Given the description of an element on the screen output the (x, y) to click on. 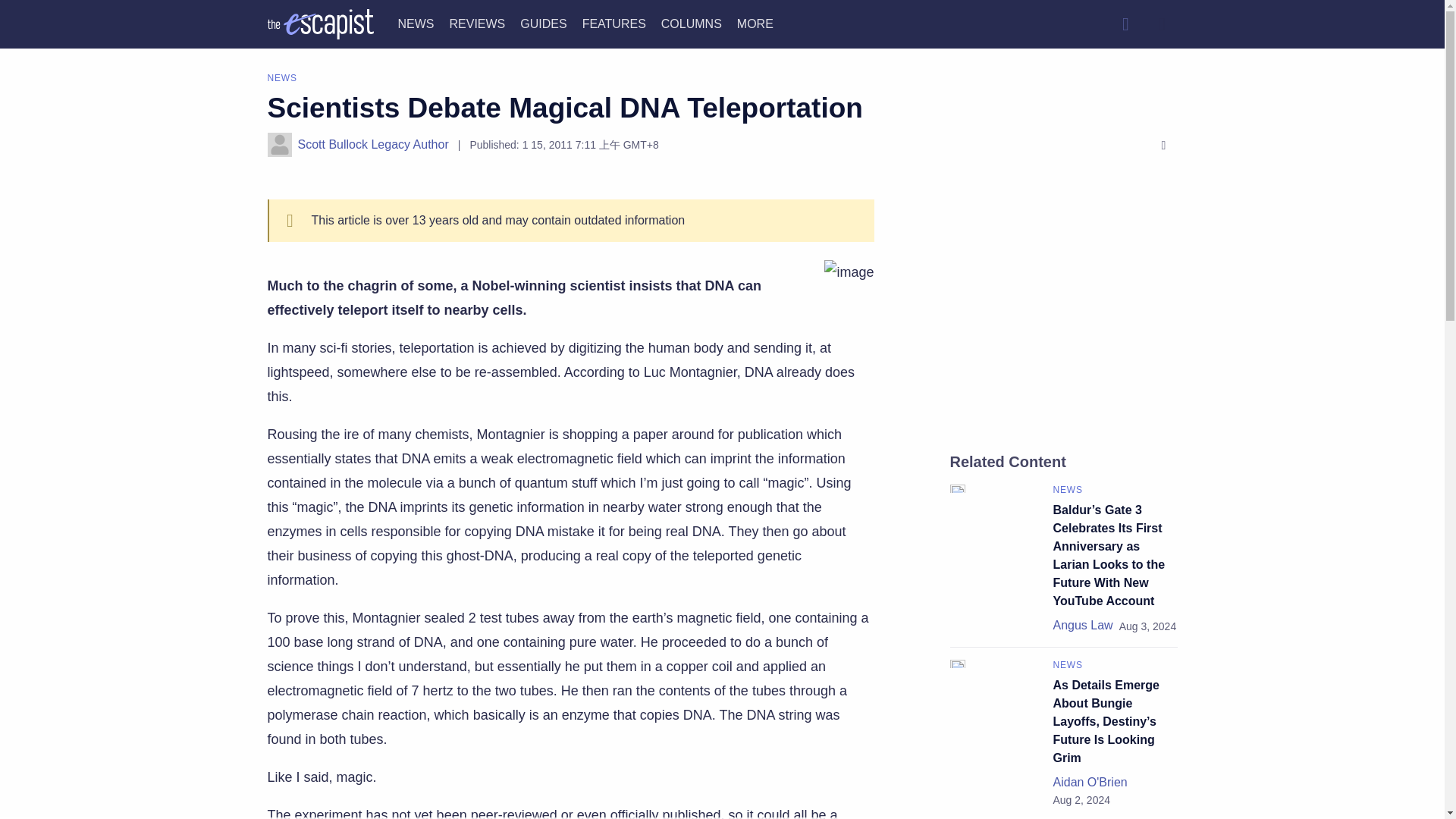
Search (1124, 24)
GUIDES (542, 23)
COLUMNS (691, 23)
Dark Mode (1161, 24)
REVIEWS (476, 23)
NEWS (415, 23)
FEATURES (614, 23)
